Given the description of an element on the screen output the (x, y) to click on. 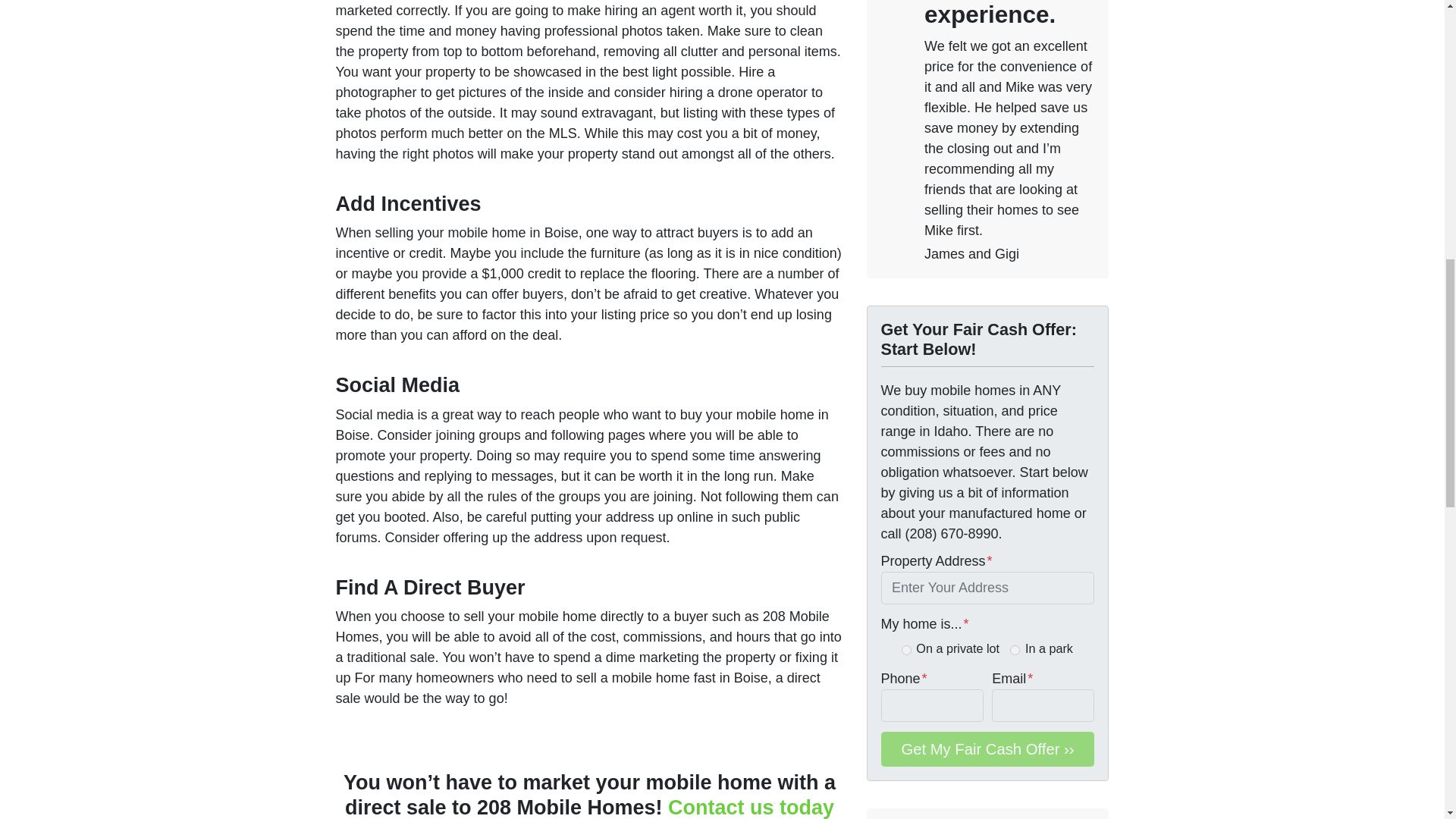
In a park (1015, 650)
Contact us today (751, 807)
On a private lot (906, 650)
